Given the description of an element on the screen output the (x, y) to click on. 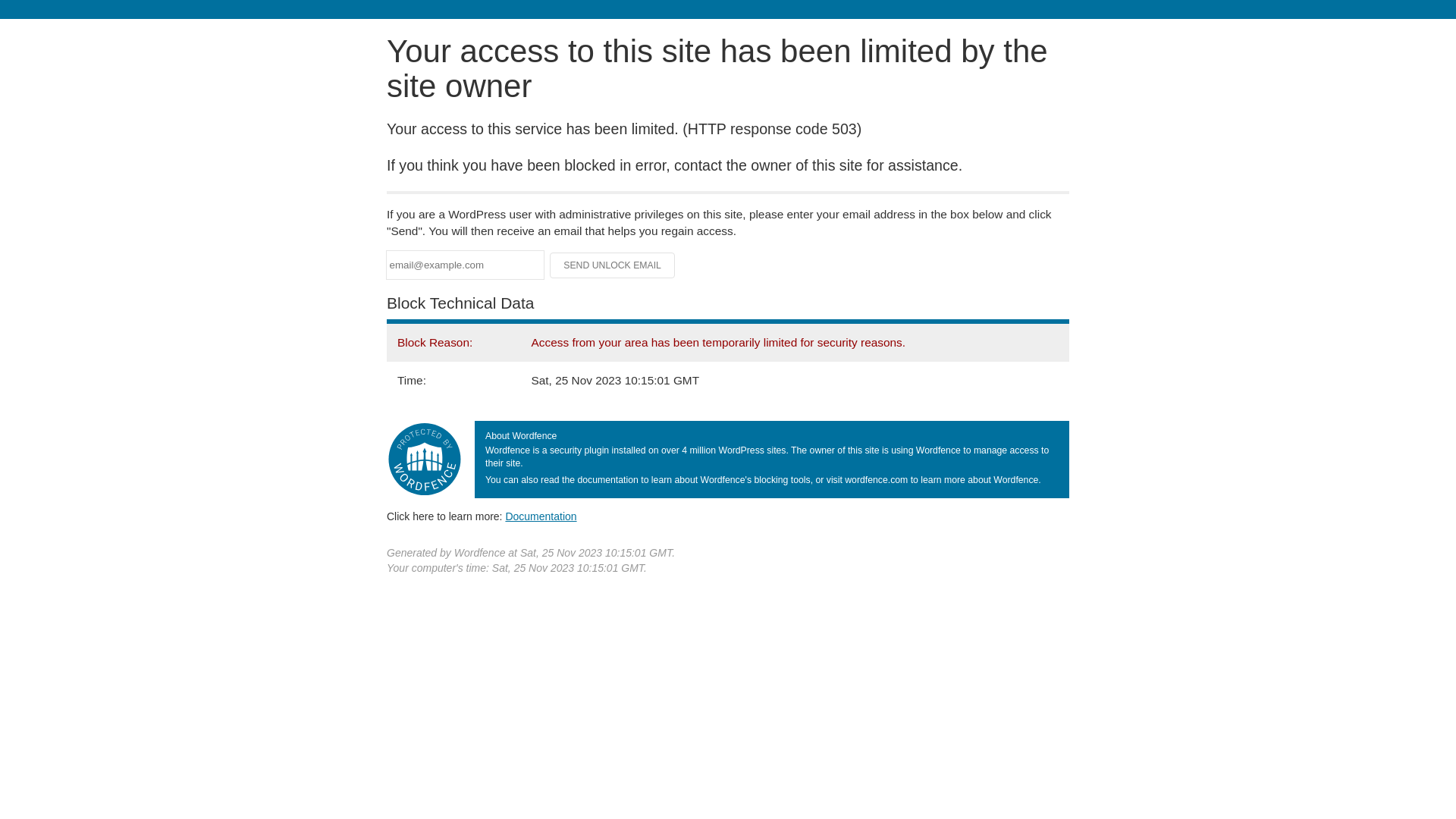
Documentation Element type: text (540, 516)
Send Unlock Email Element type: text (612, 265)
